Given the description of an element on the screen output the (x, y) to click on. 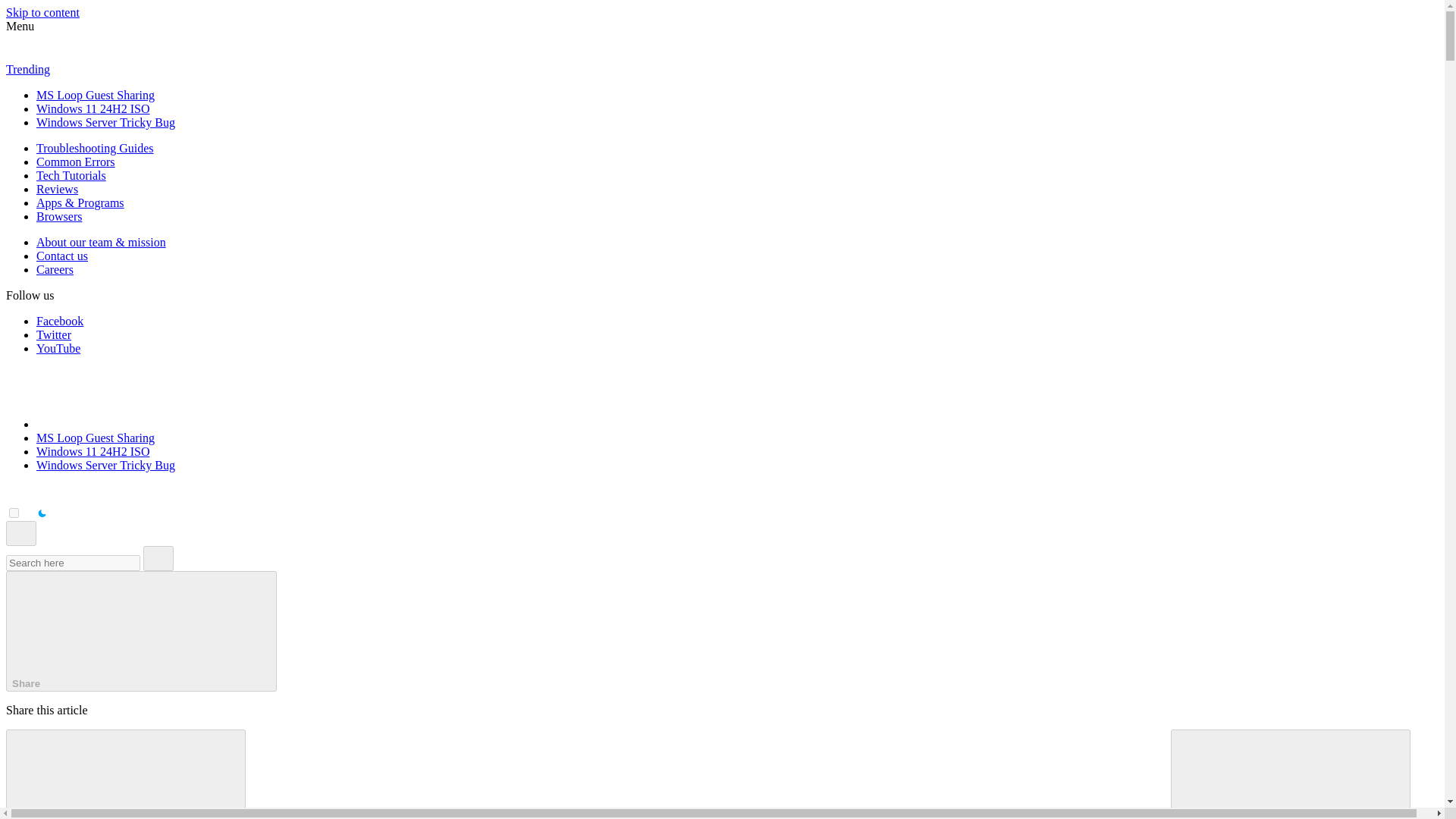
Windows Server Tricky Bug (105, 464)
Twitter (53, 334)
Facebook (59, 320)
Trending (27, 69)
Skip to content (42, 11)
Browsers (58, 215)
YouTube (58, 348)
Windows Server Tricky Bug (105, 122)
Windows 11 24H2 ISO (92, 451)
Search (157, 558)
Share this article (140, 630)
on (13, 512)
MS Loop Guest Sharing (95, 94)
Tech Tutorials (71, 174)
MS Loop Guest Sharing (95, 437)
